Given the description of an element on the screen output the (x, y) to click on. 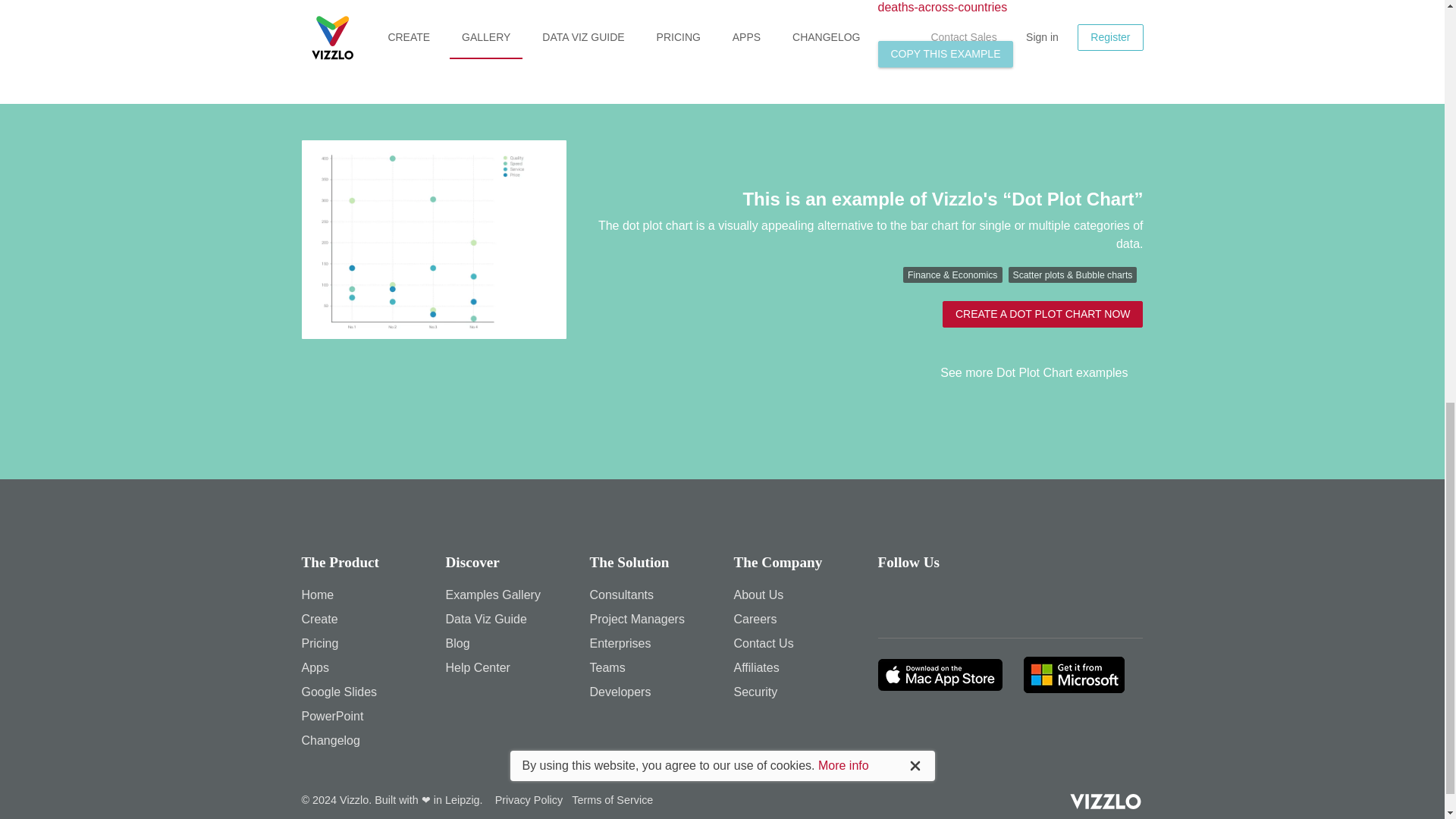
See more Dot Plot Chart examples (1041, 372)
CREATE A DOT PLOT CHART NOW (1042, 314)
Consultants (621, 594)
Threads (894, 601)
COPY THIS EXAMPLE (945, 53)
Examples Gallery (492, 594)
LinkedIn (978, 601)
Apps (315, 667)
Twitter (936, 601)
Infographics, chart types and visualization templates (319, 618)
